Given the description of an element on the screen output the (x, y) to click on. 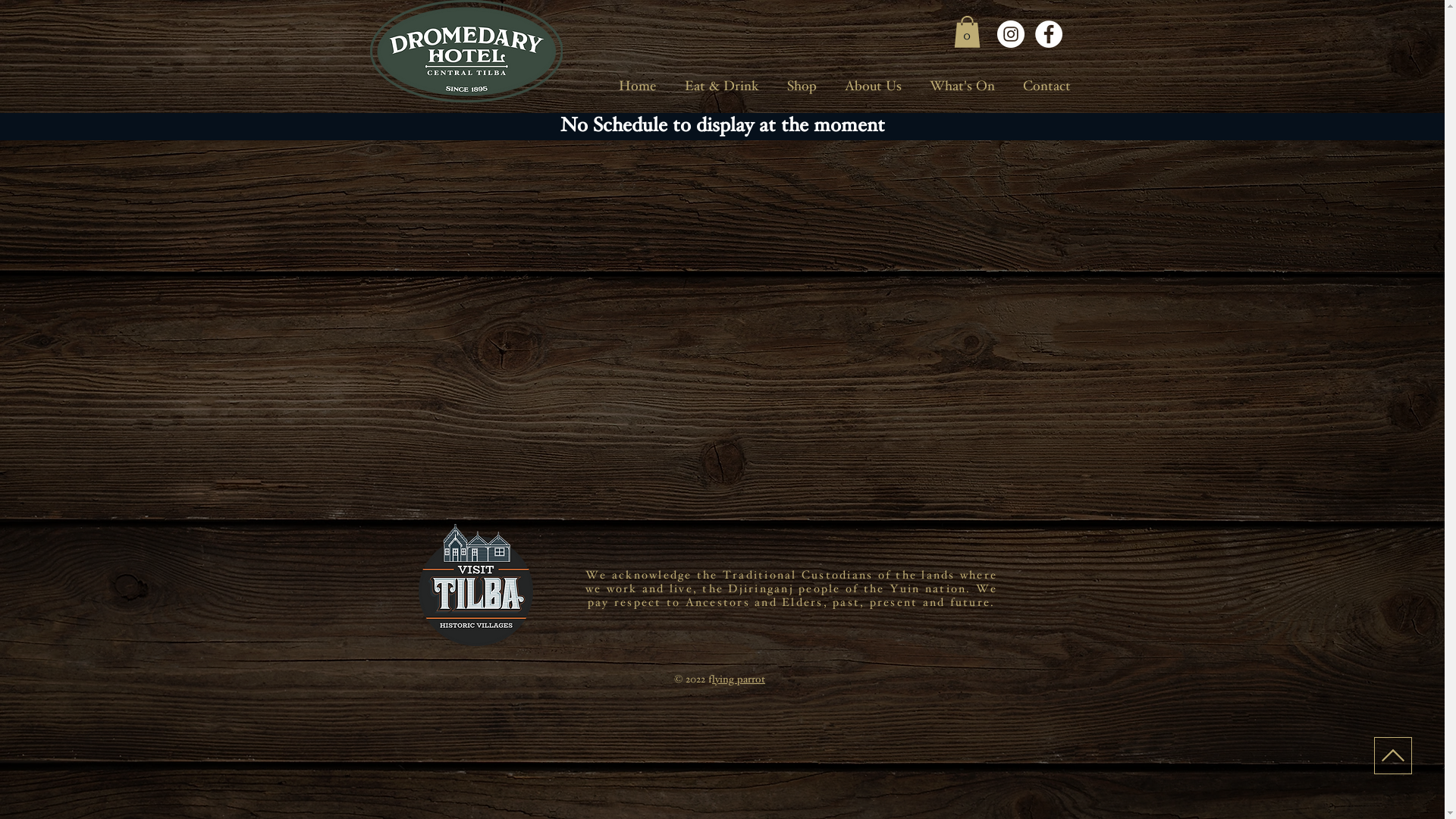
Eat & Drink Element type: text (721, 87)
0 Element type: text (966, 31)
Shop Element type: text (802, 87)
What's On Element type: text (962, 87)
Home Element type: text (636, 87)
Contact Element type: text (1046, 87)
The Drom, Tilba Pub Element type: hover (466, 51)
lying parrot Element type: text (738, 679)
About Us Element type: text (873, 87)
